Given the description of an element on the screen output the (x, y) to click on. 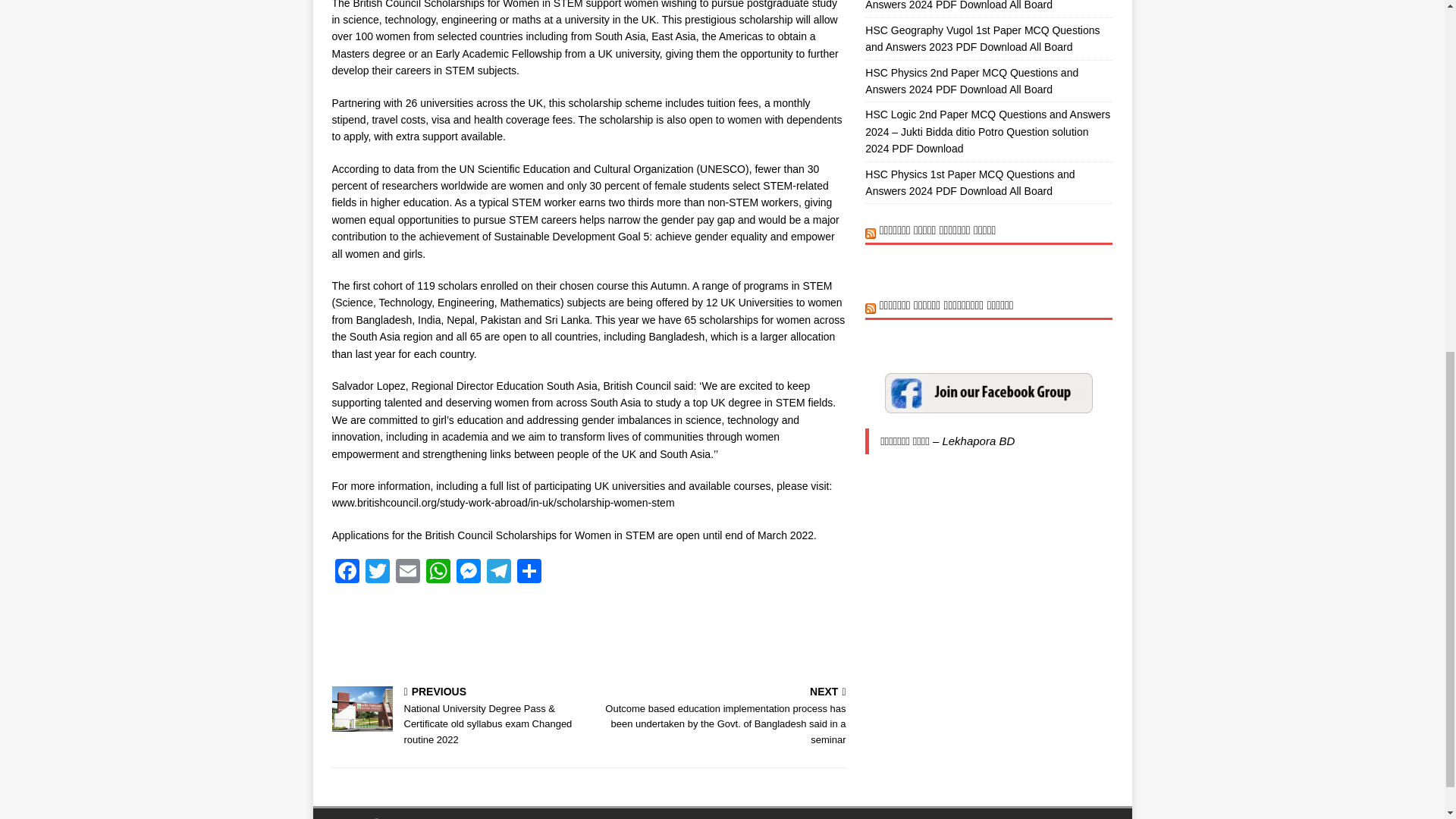
Telegram (498, 572)
Facebook (346, 572)
Messenger (467, 572)
WhatsApp (437, 572)
Twitter (377, 572)
Messenger (467, 572)
Share (528, 572)
Telegram (498, 572)
Email (408, 572)
